Given the description of an element on the screen output the (x, y) to click on. 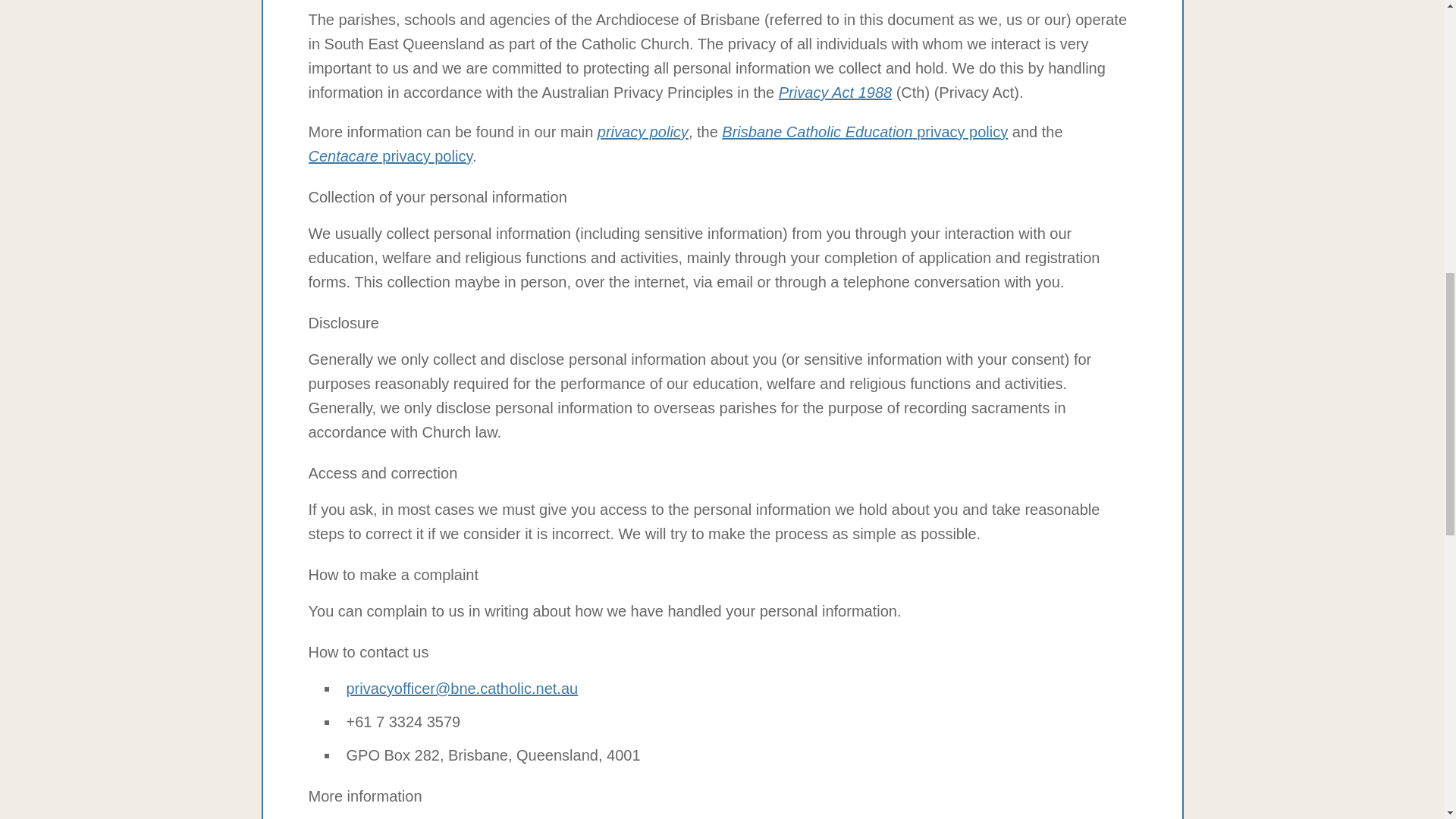
Brisbane Catholic Education privacy policy (864, 131)
Privacy Act 1988 (834, 92)
Centacare privacy policy (389, 156)
privacy policy (642, 131)
